Given the description of an element on the screen output the (x, y) to click on. 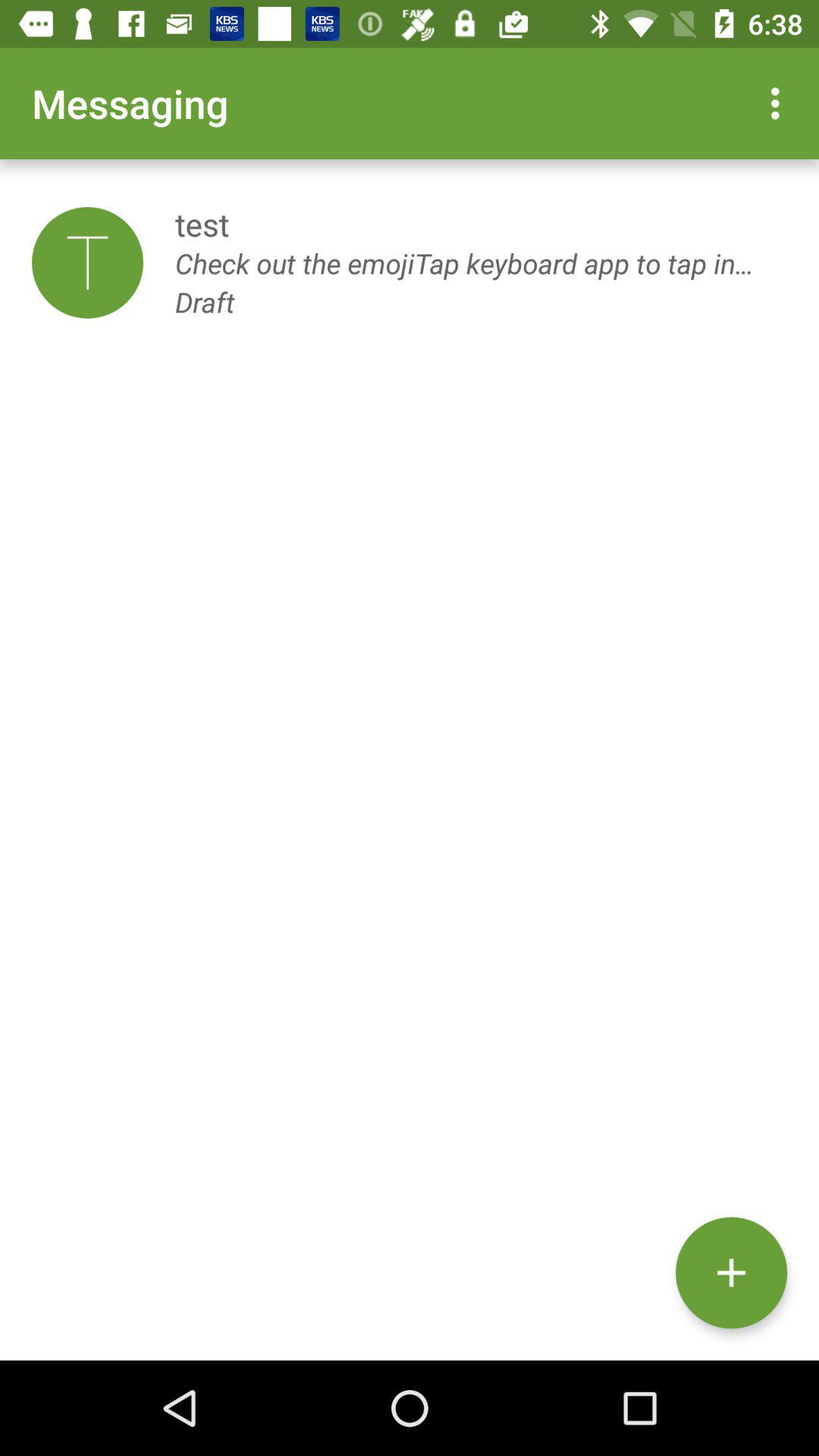
tap the item below check out the item (731, 1272)
